Given the description of an element on the screen output the (x, y) to click on. 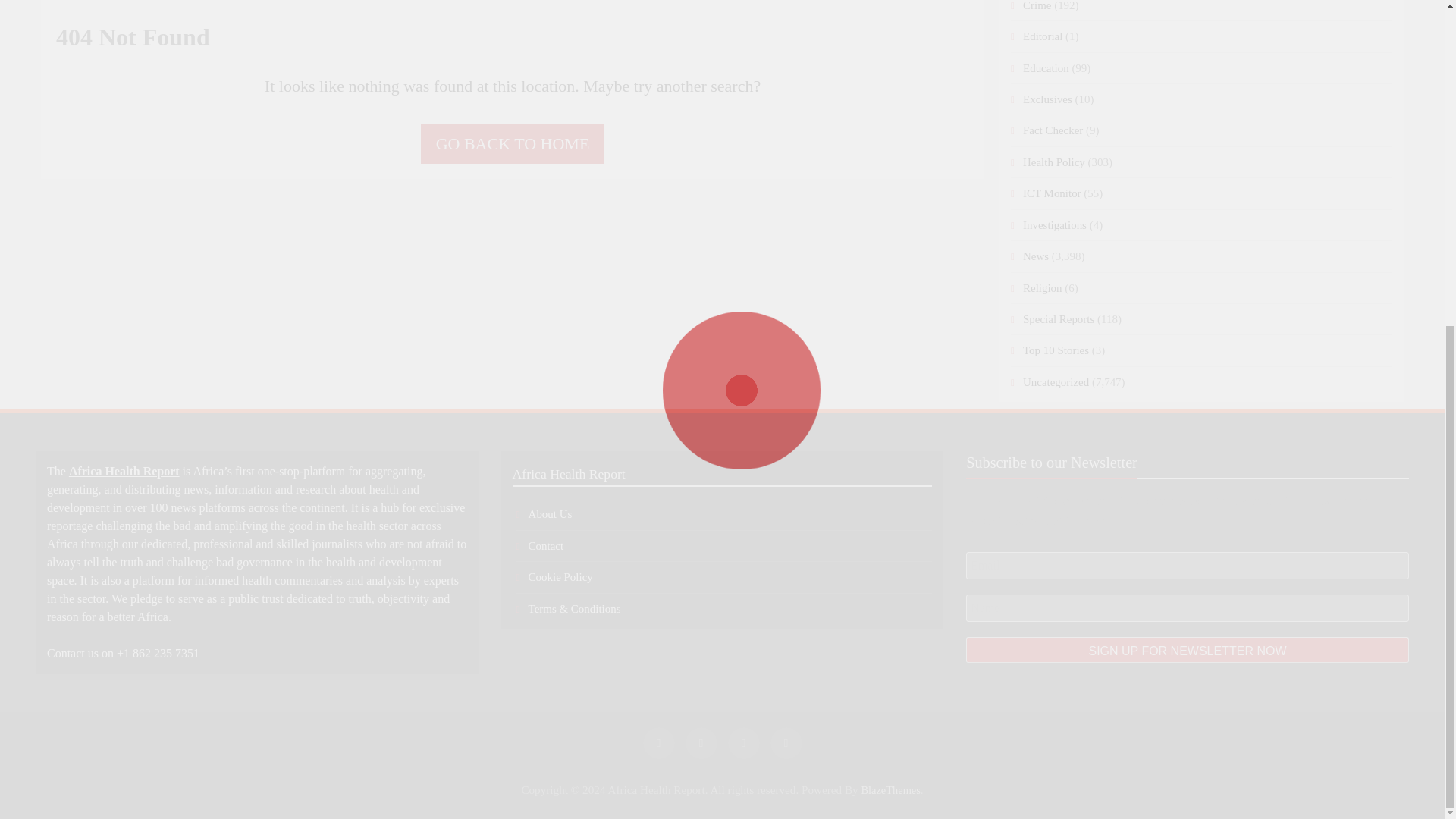
Email (1187, 565)
Name (1187, 607)
SIGN UP FOR NEWSLETTER NOW (1187, 649)
